Given the description of an element on the screen output the (x, y) to click on. 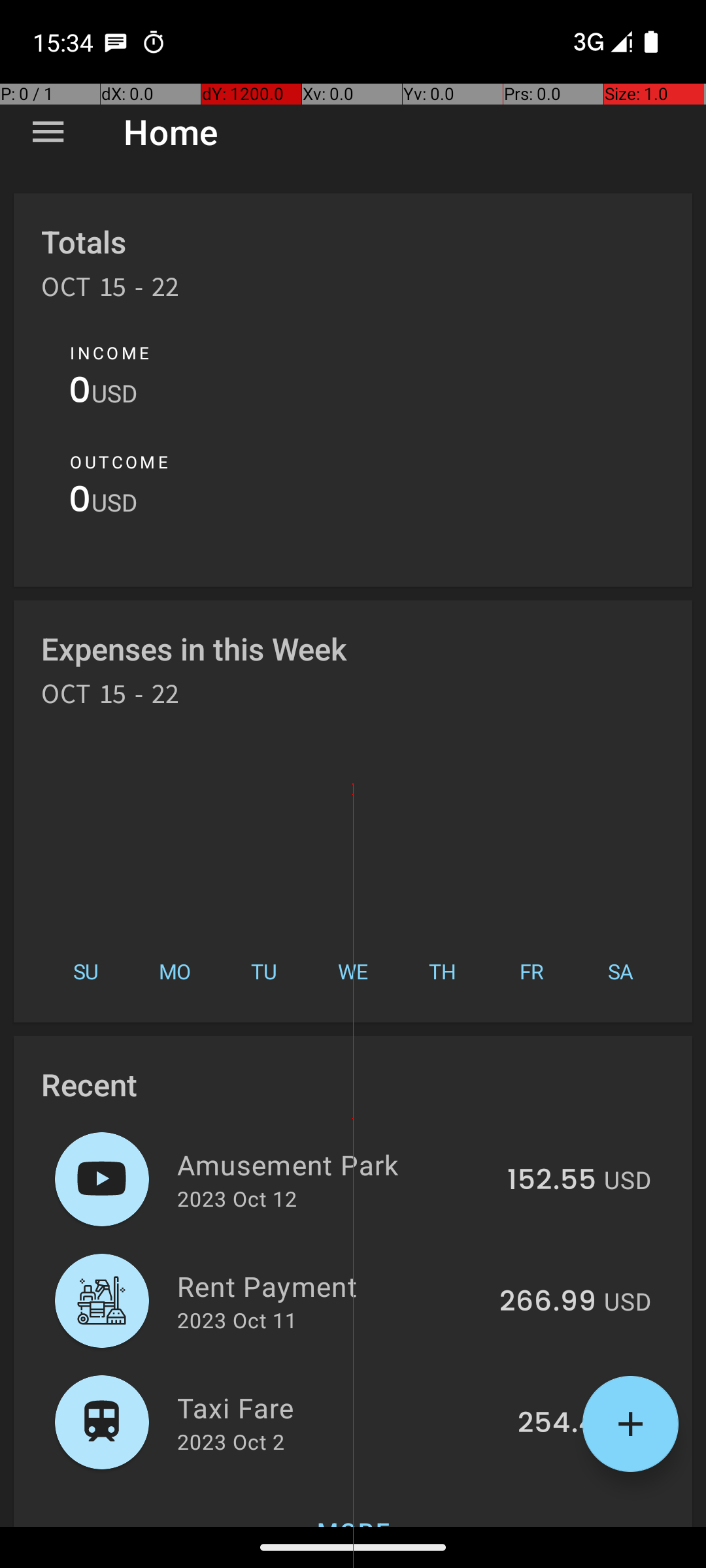
Amusement Park Element type: android.widget.TextView (334, 1164)
152.55 Element type: android.widget.TextView (551, 1180)
Rent Payment Element type: android.widget.TextView (330, 1285)
266.99 Element type: android.widget.TextView (547, 1301)
Taxi Fare Element type: android.widget.TextView (339, 1407)
2023 Oct 2 Element type: android.widget.TextView (230, 1441)
254.4 Element type: android.widget.TextView (556, 1423)
